Given the description of an element on the screen output the (x, y) to click on. 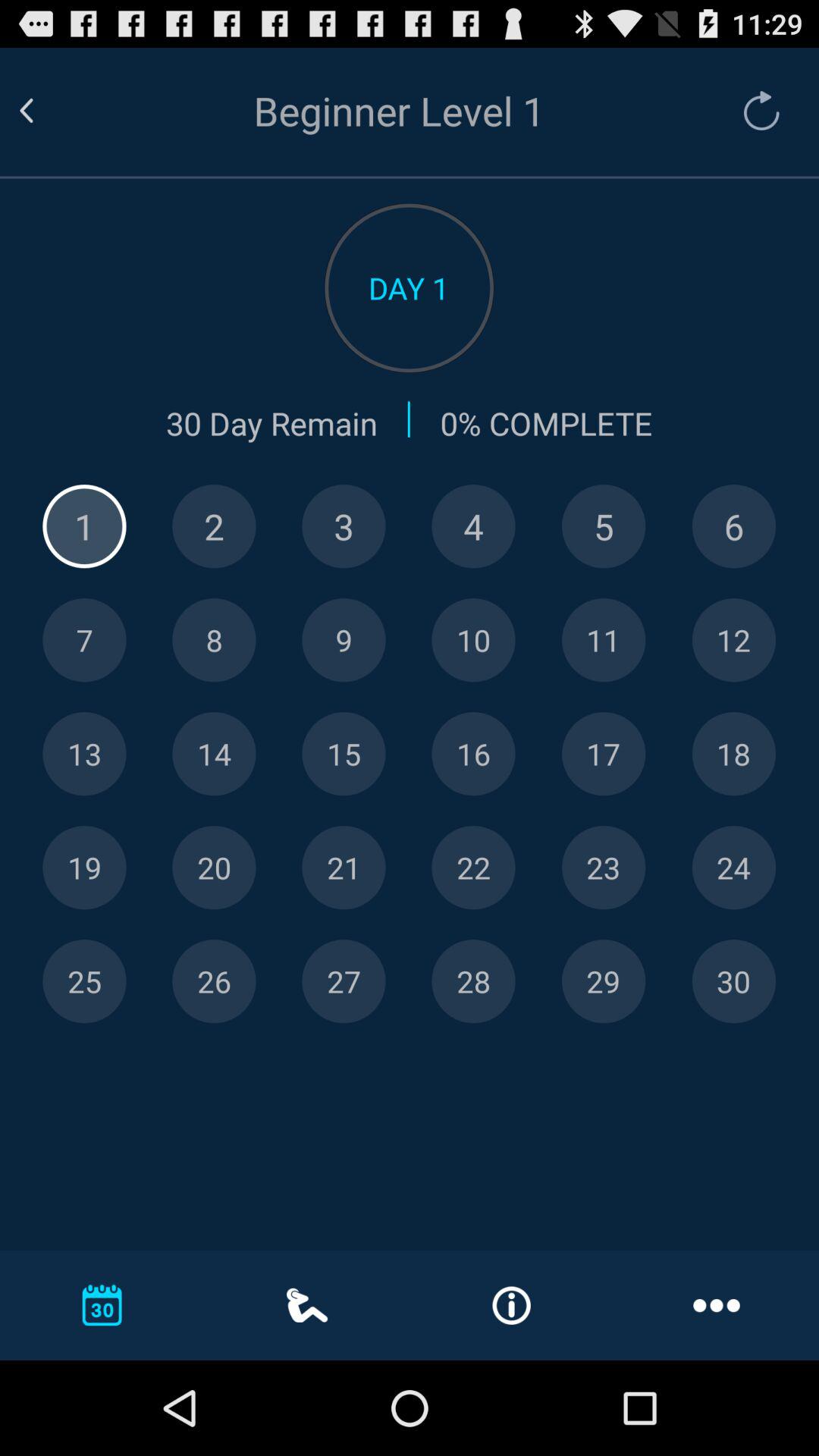
toggle no six (733, 526)
